Given the description of an element on the screen output the (x, y) to click on. 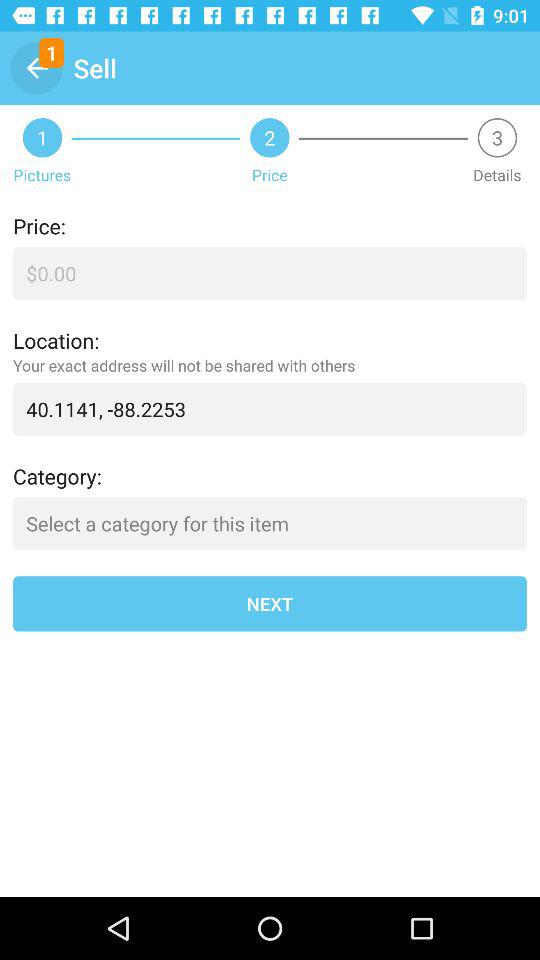
launch the item below your exact address (269, 408)
